Given the description of an element on the screen output the (x, y) to click on. 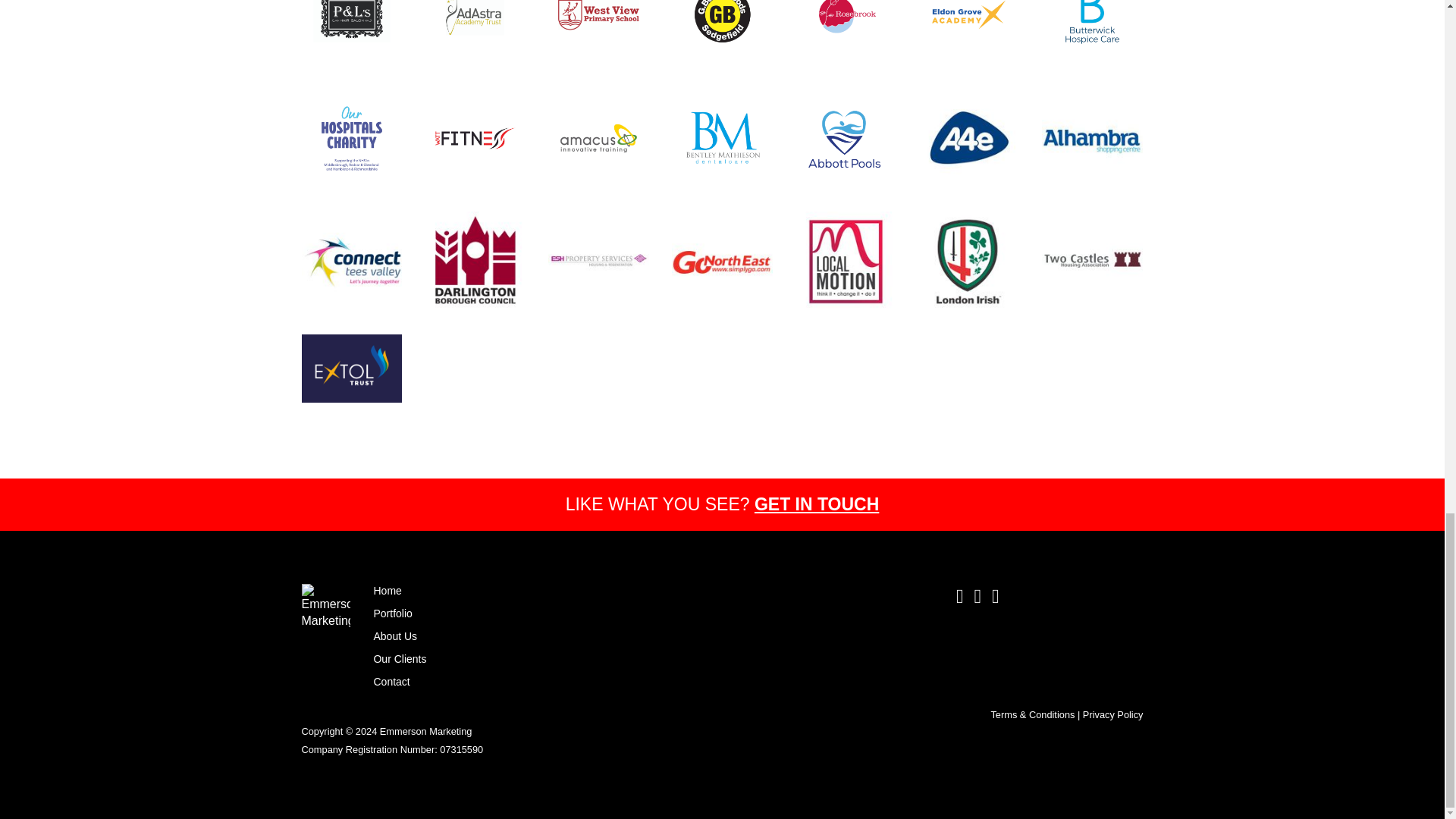
Contact (390, 681)
Portfolio (392, 613)
GET IN TOUCH (816, 504)
Privacy Policy (1112, 714)
Our Clients (399, 658)
Home (386, 590)
About Us (394, 635)
